Given the description of an element on the screen output the (x, y) to click on. 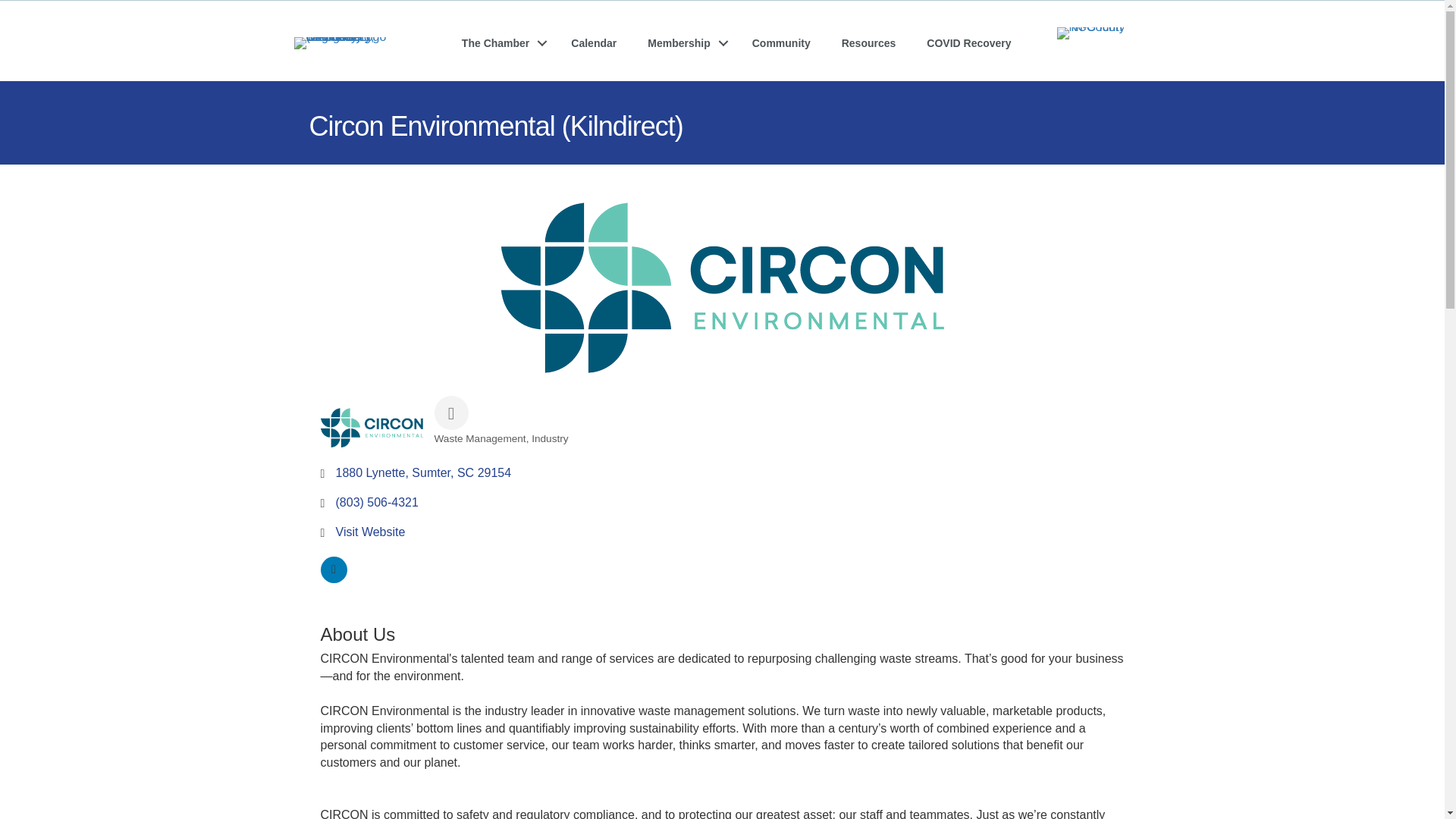
Visit Website (369, 531)
Resources (869, 43)
The Chamber (500, 43)
COVID Recovery (968, 43)
tri-county-regional-chamber-logo (346, 42)
View on LinkedIn (333, 578)
Calendar (593, 43)
Community (780, 43)
Membership (683, 43)
1880 Lynette Sumter SC 29154 (422, 472)
Tri-County NCG Icon (1104, 33)
